Given the description of an element on the screen output the (x, y) to click on. 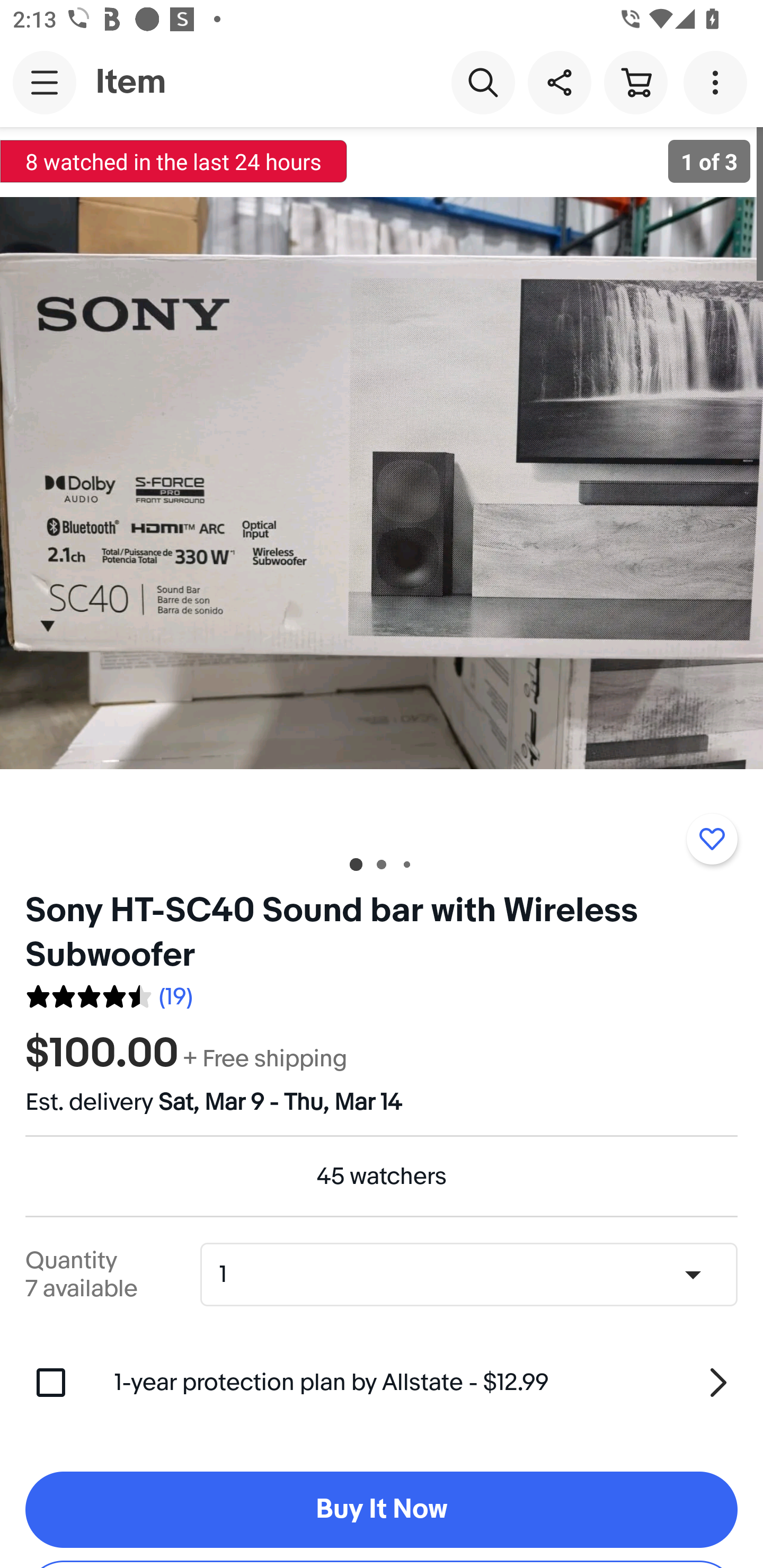
Main navigation, open (44, 82)
Search (482, 81)
Share this item (559, 81)
Cart button shopping cart (635, 81)
More options (718, 81)
Item image 1 of 3 (381, 482)
8 watched in the last 24 hours (173, 161)
Add to watchlist (711, 838)
Quantity,1,7 available 1 (474, 1274)
1-year protection plan by Allstate - $12.99 (425, 1382)
Buy It Now (381, 1509)
